Given the description of an element on the screen output the (x, y) to click on. 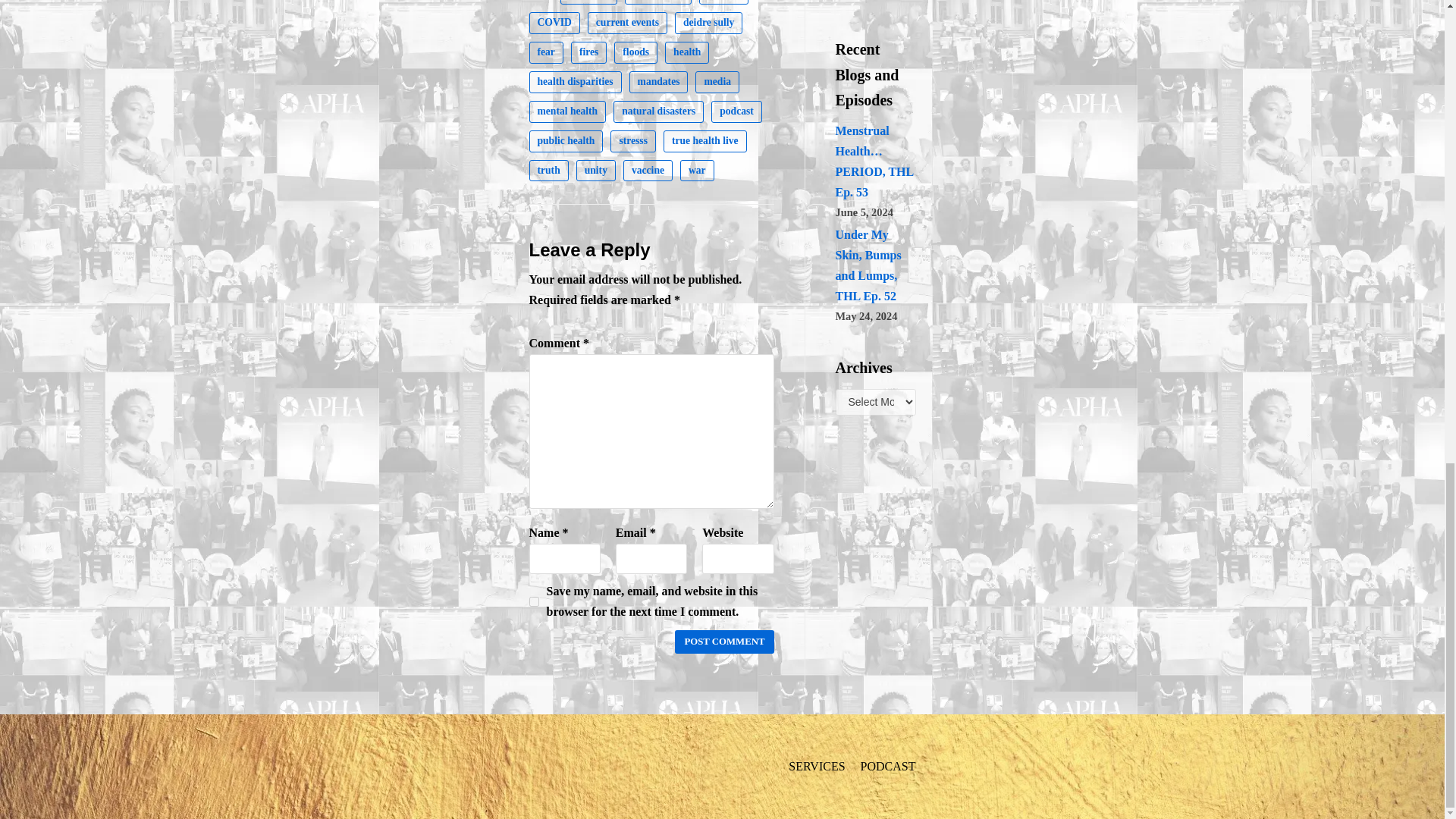
Post Comment (724, 641)
yes (533, 601)
COVID (554, 23)
community (657, 2)
advocacy (588, 2)
conflict (723, 2)
